Given the description of an element on the screen output the (x, y) to click on. 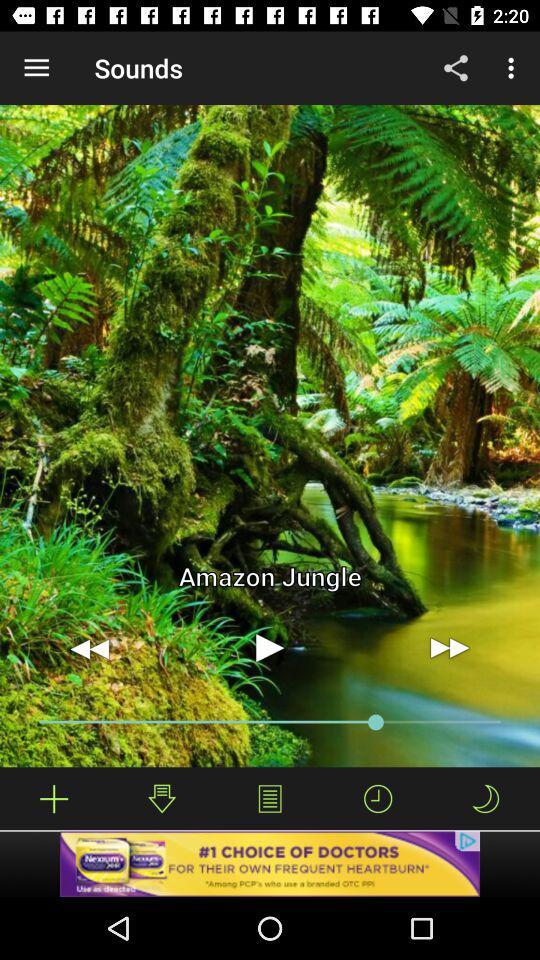
add too (54, 798)
